Given the description of an element on the screen output the (x, y) to click on. 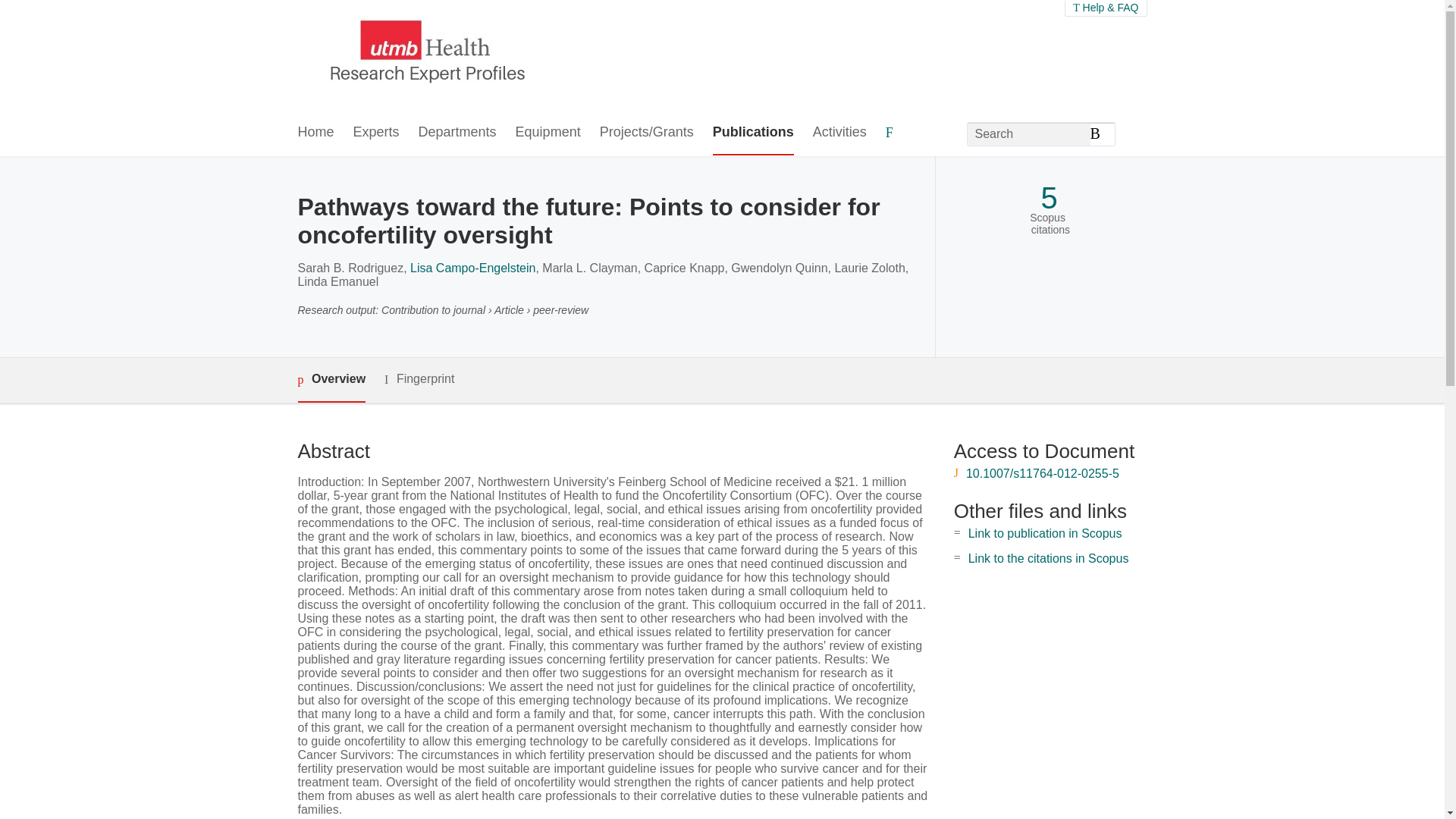
UTMB Health Research Expert Profiles Home (424, 55)
Link to publication in Scopus (1045, 533)
Equipment (547, 132)
Lisa Campo-Engelstein (472, 267)
Publications (753, 132)
Link to the citations in Scopus (1048, 558)
Overview (331, 379)
Departments (457, 132)
Experts (375, 132)
Activities (839, 132)
Fingerprint (419, 379)
